Given the description of an element on the screen output the (x, y) to click on. 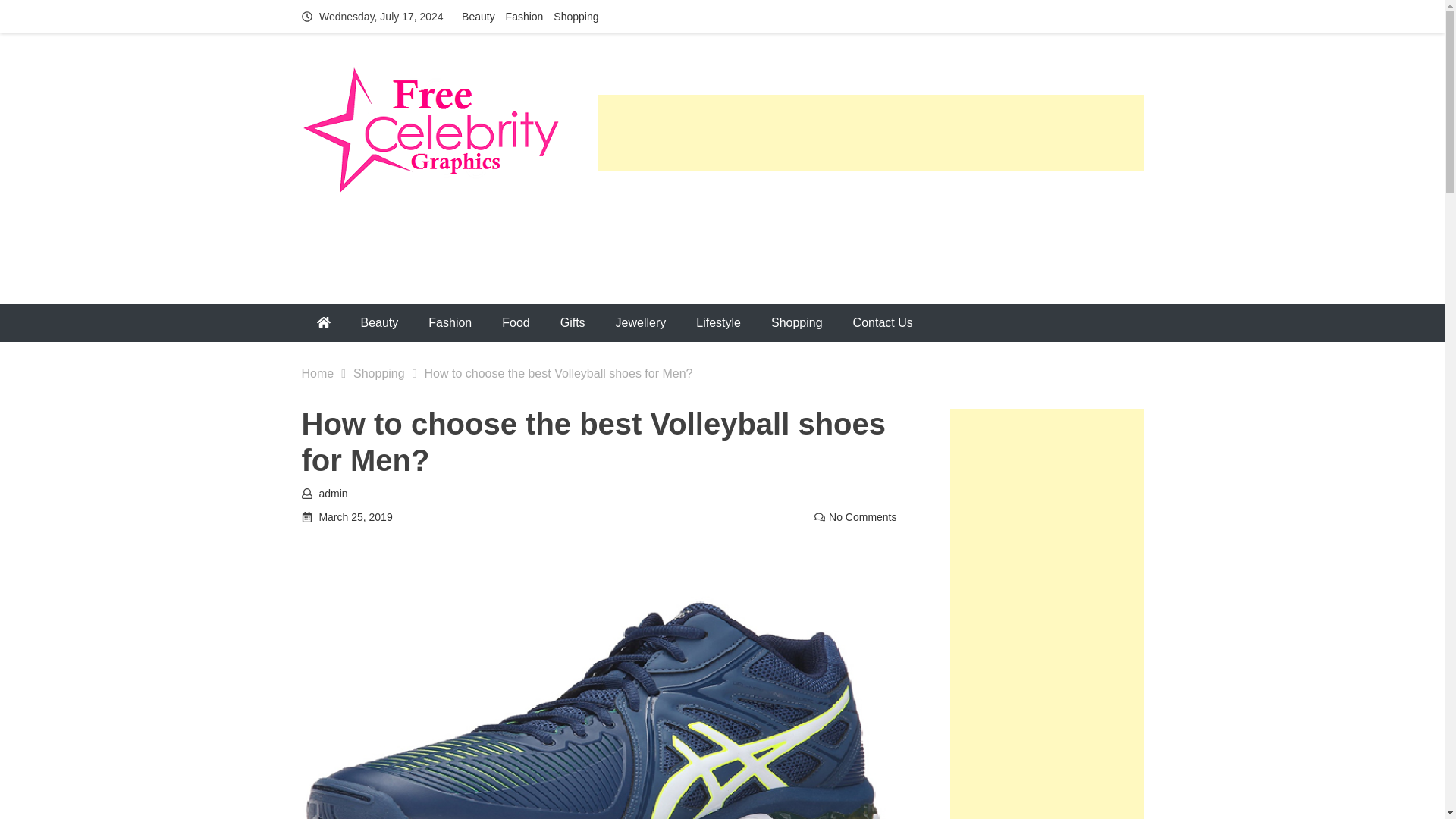
Fashion (449, 322)
Shopping (575, 16)
Advertisement (869, 225)
Gifts (571, 322)
Beauty (478, 16)
Shopping (796, 322)
Contact Us (883, 322)
March 25, 2019 (354, 517)
Fashion (524, 16)
No Comments (862, 517)
admin (332, 493)
Jewellery (640, 322)
Lifestyle (718, 322)
Food (515, 322)
Shopping (388, 373)
